Given the description of an element on the screen output the (x, y) to click on. 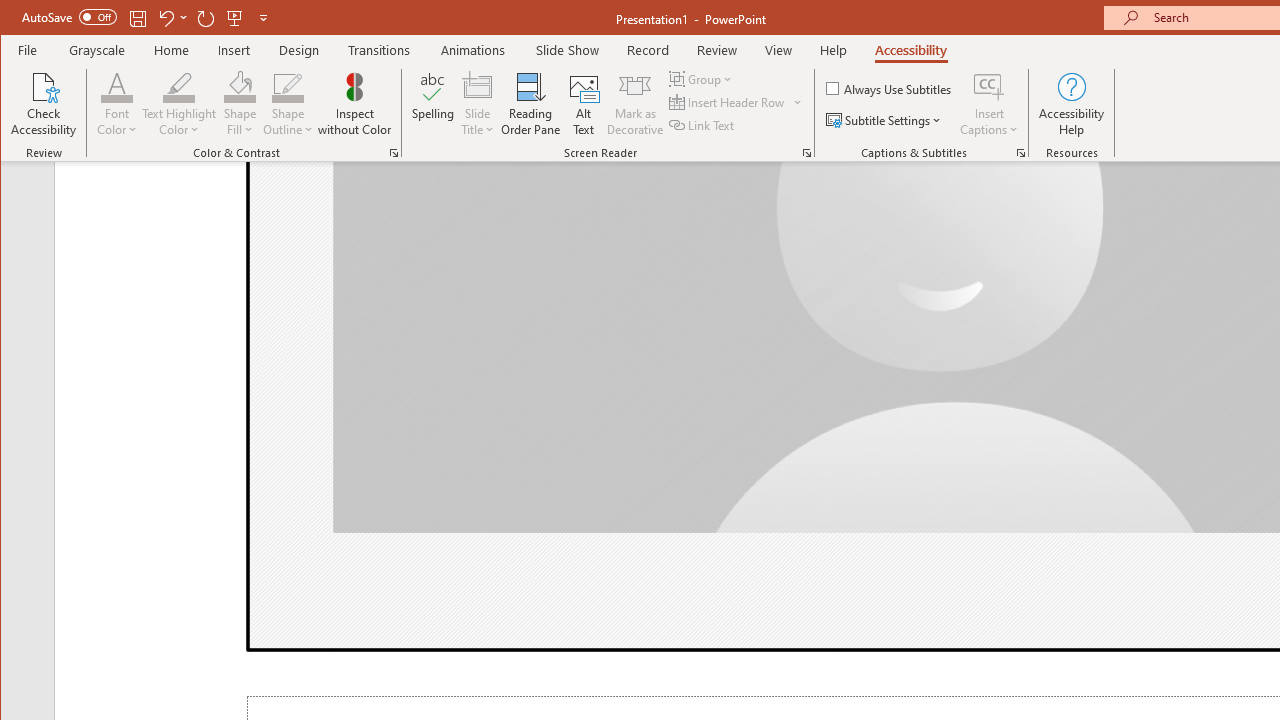
Inspect without Color (355, 104)
Color & Contrast (393, 152)
Subtitle Settings (885, 119)
